Given the description of an element on the screen output the (x, y) to click on. 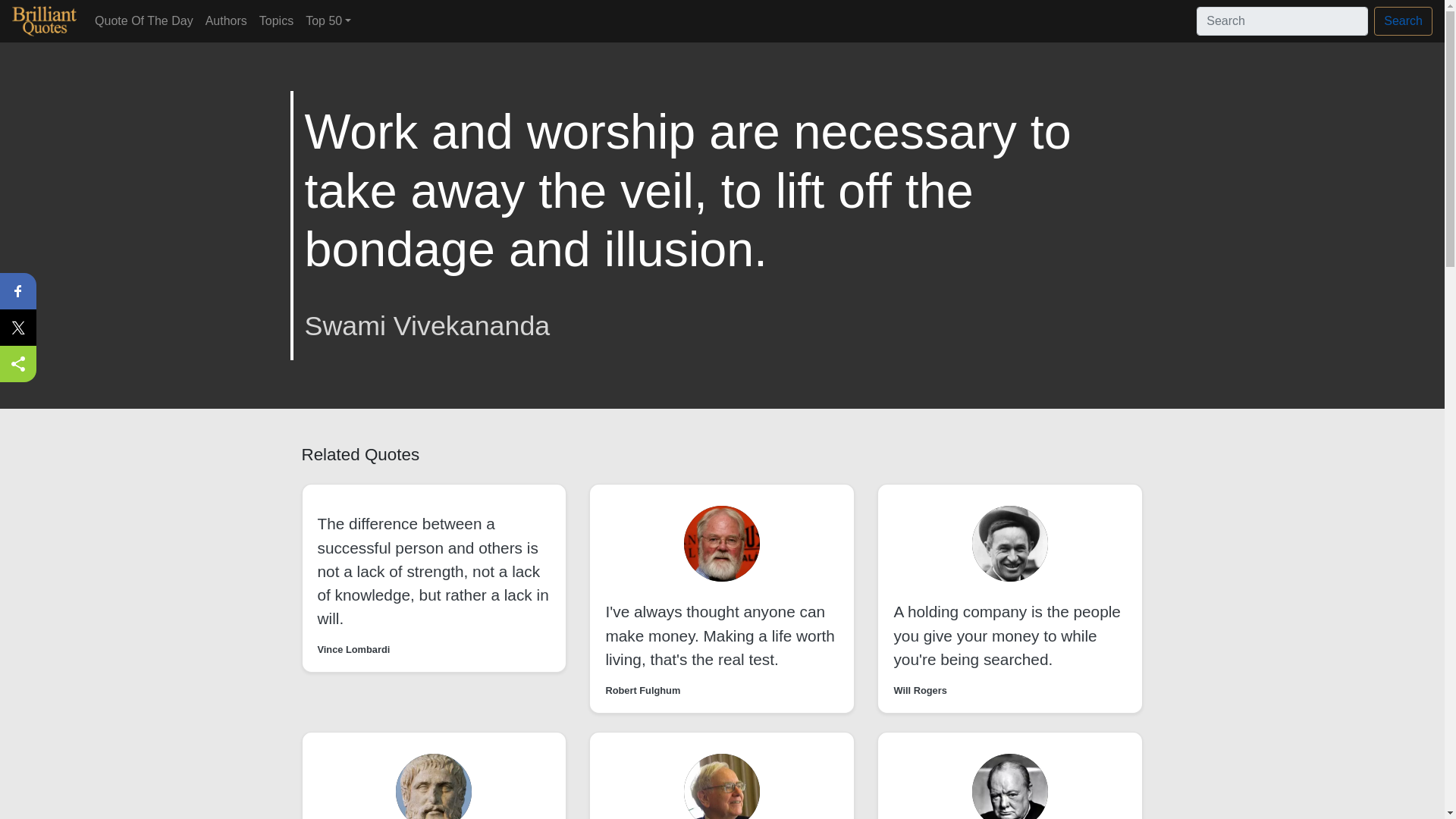
Quote Of The Day (143, 20)
Robert Fulghum (642, 690)
Search (1403, 21)
Authors (226, 20)
Topics (276, 20)
Will Rogers (919, 690)
Top 50 (327, 20)
Vince Lombardi (353, 649)
